Given the description of an element on the screen output the (x, y) to click on. 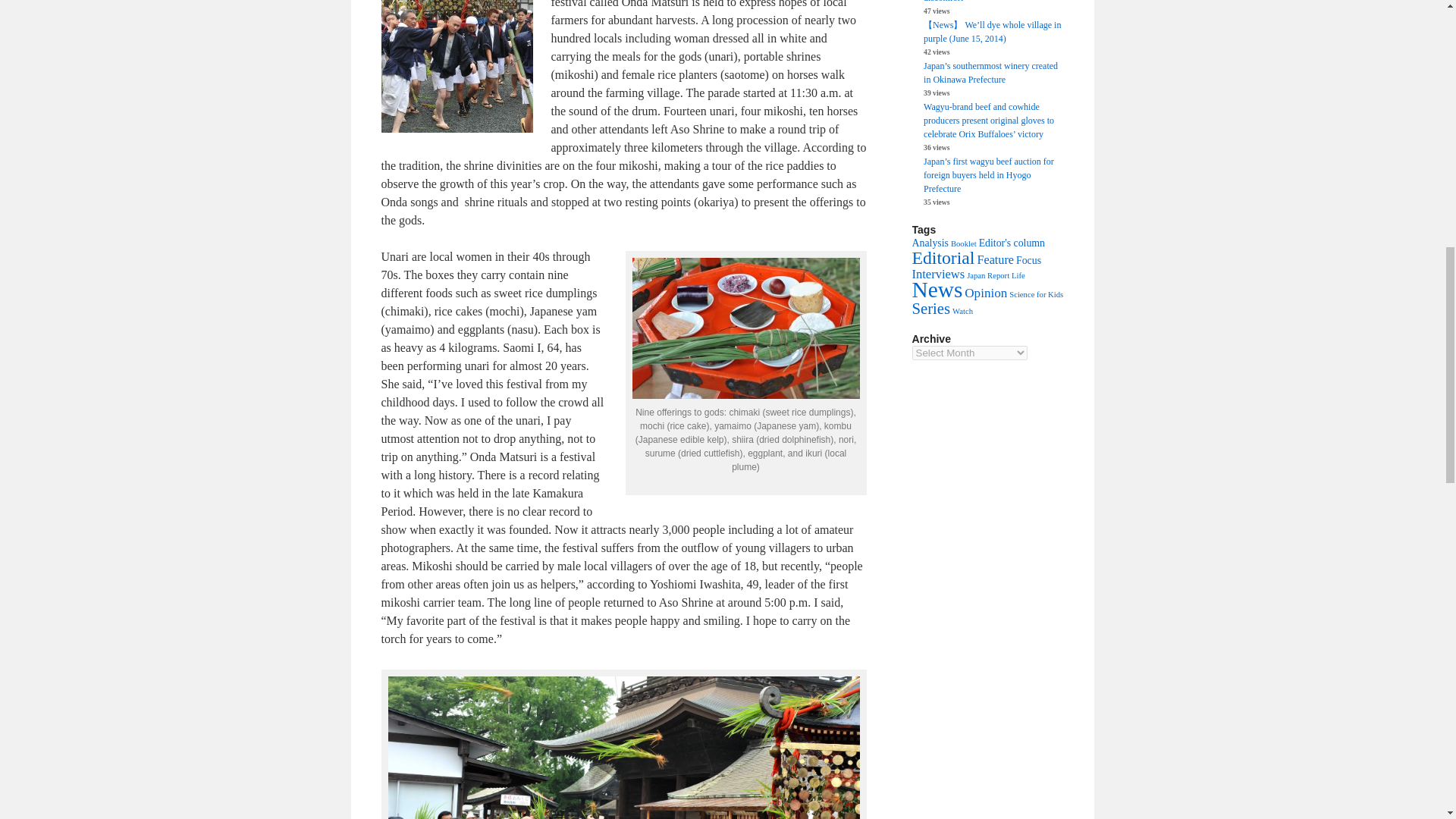
Analysis (929, 242)
